Given the description of an element on the screen output the (x, y) to click on. 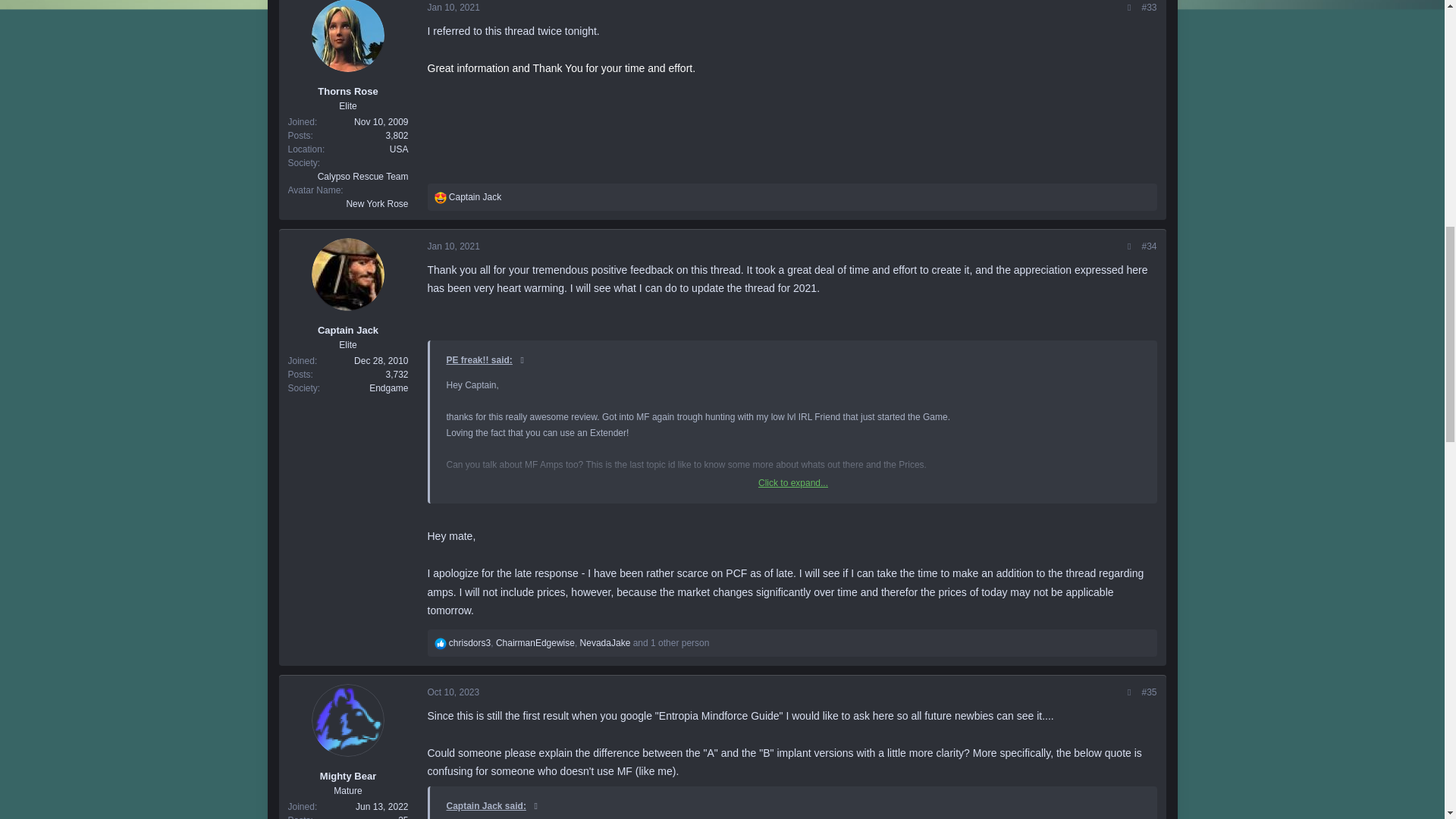
Oct 10, 2023 at 1:36 AM (454, 692)
Love (439, 196)
Like (439, 643)
Jan 10, 2021 at 9:21 AM (454, 6)
Jan 10, 2021 at 2:48 PM (454, 245)
